Given the description of an element on the screen output the (x, y) to click on. 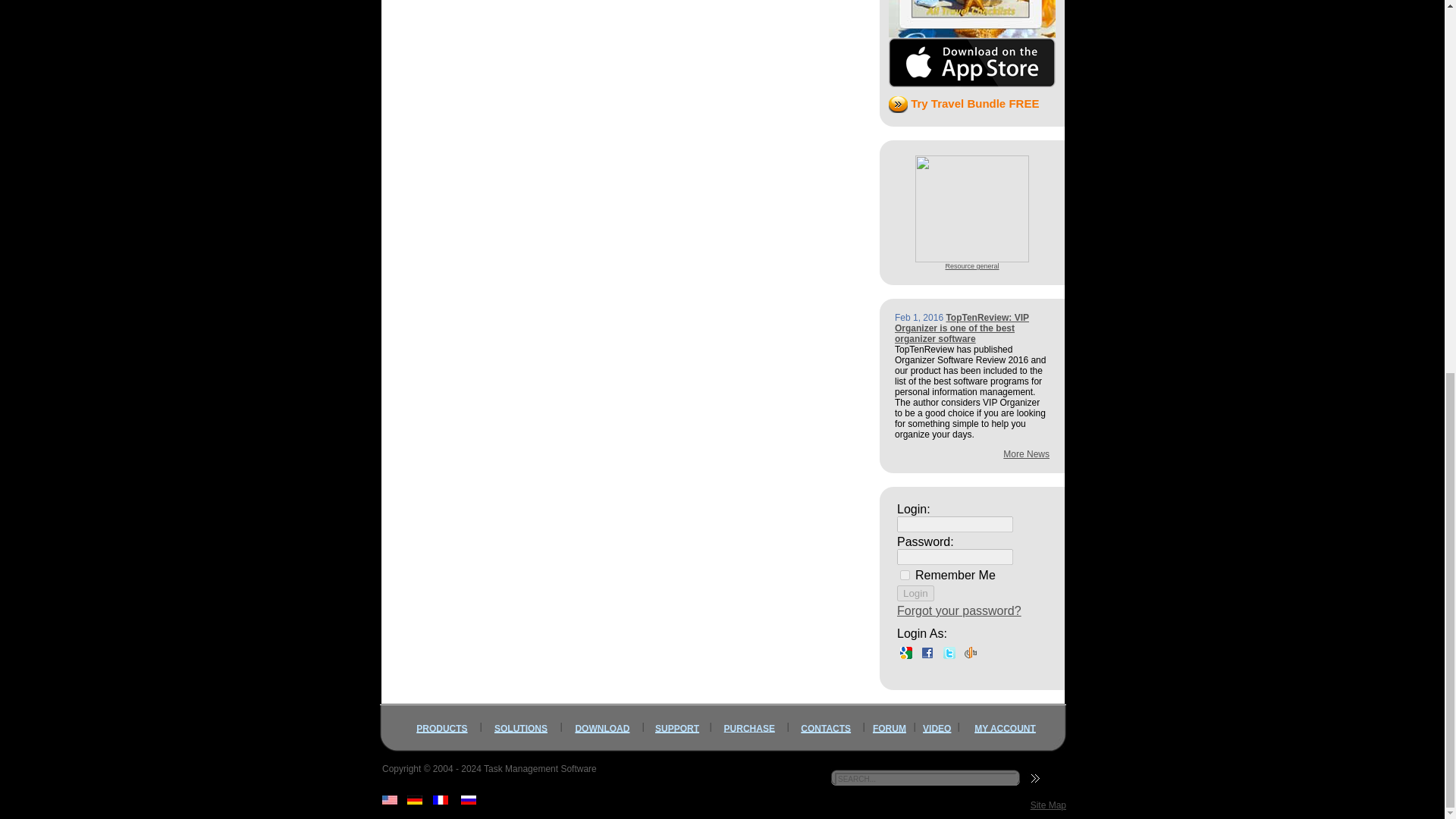
Resource general (971, 266)
Resource general (972, 208)
Y (904, 574)
Google (906, 652)
SEARCH... (925, 779)
Forgot your password? (959, 610)
 Try Travel Bundle FREE (963, 103)
Login (915, 593)
Remember me on this computer (955, 574)
Facebook (927, 652)
1 (972, 257)
More News (1026, 453)
Login (915, 593)
